Given the description of an element on the screen output the (x, y) to click on. 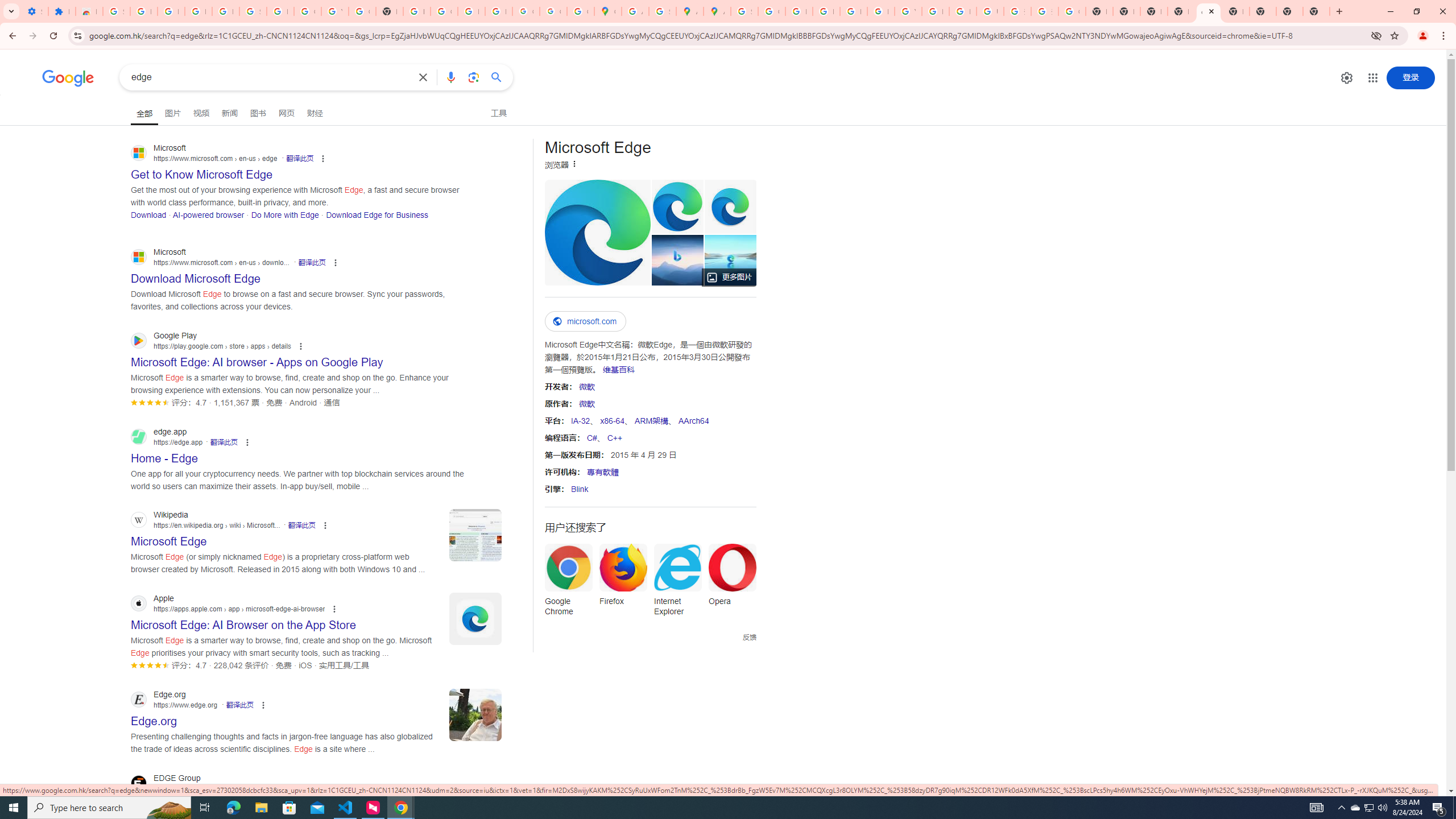
Home - Microsoft Edge Blog (730, 260)
Opera (733, 578)
Google Chrome (568, 583)
Home - Microsoft Edge Blog (730, 260)
New Tab (1180, 11)
Blink (579, 488)
IA-32 (579, 420)
